Given the description of an element on the screen output the (x, y) to click on. 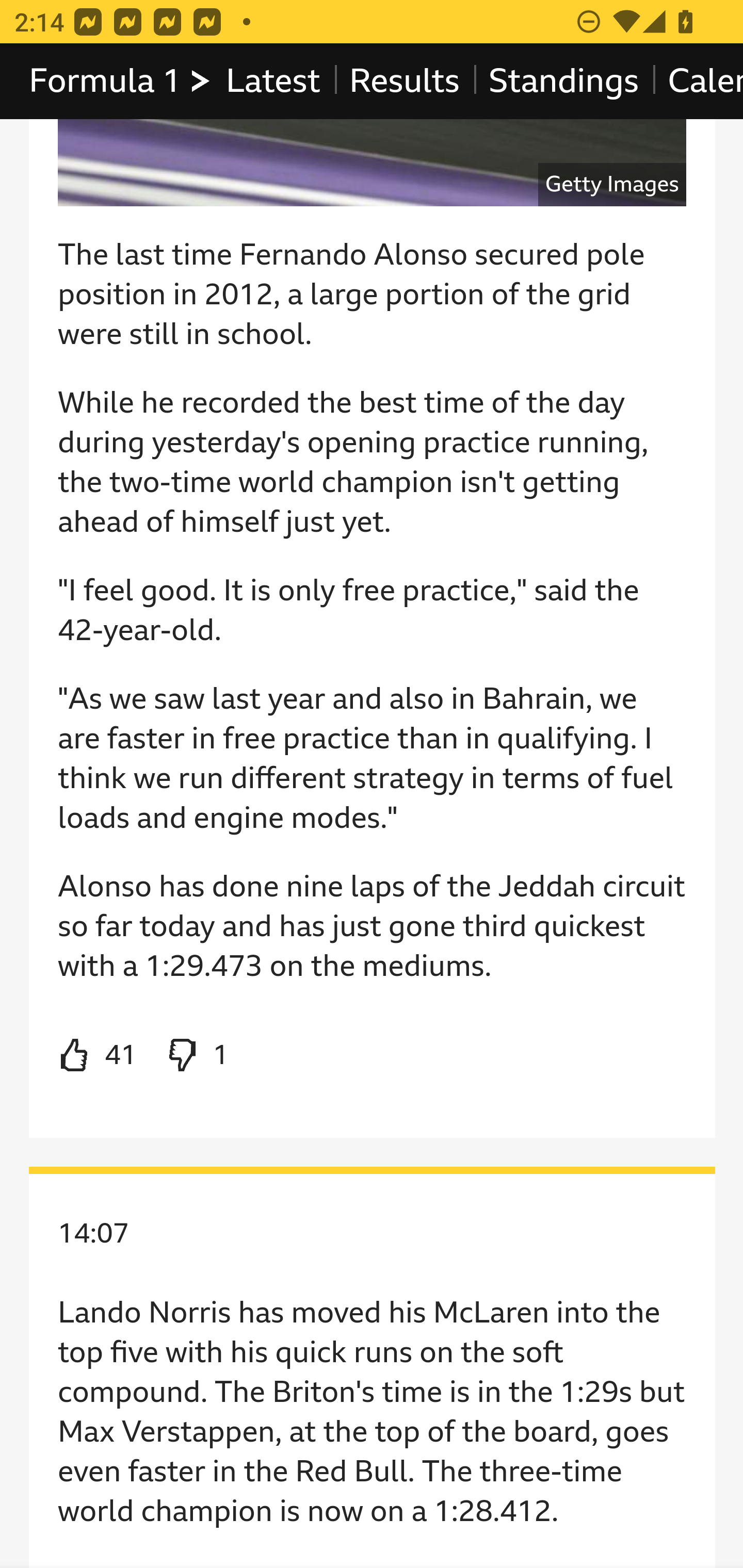
Like (97, 1056)
Dislike (196, 1056)
